Given the description of an element on the screen output the (x, y) to click on. 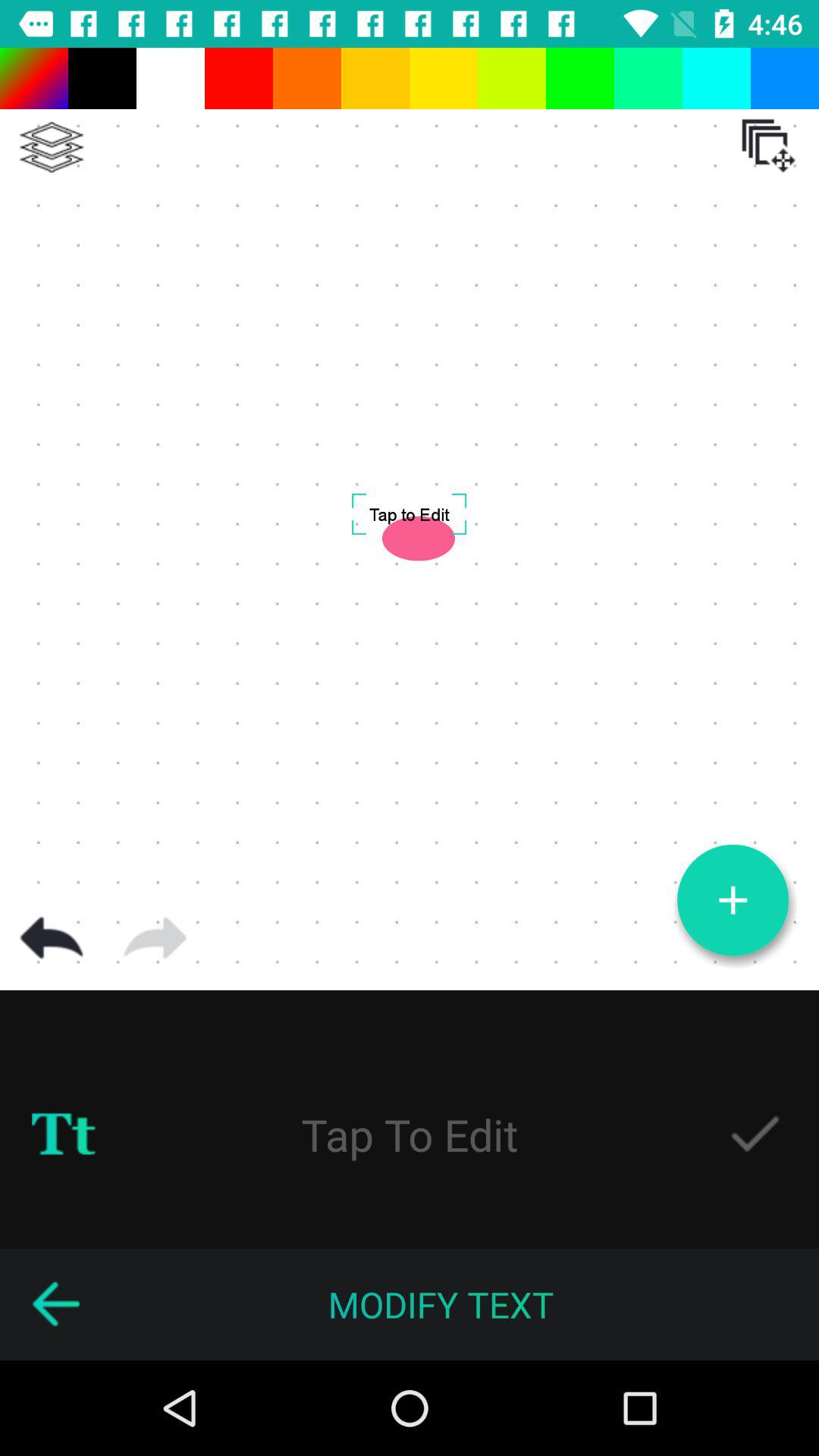
go back (55, 1304)
